Given the description of an element on the screen output the (x, y) to click on. 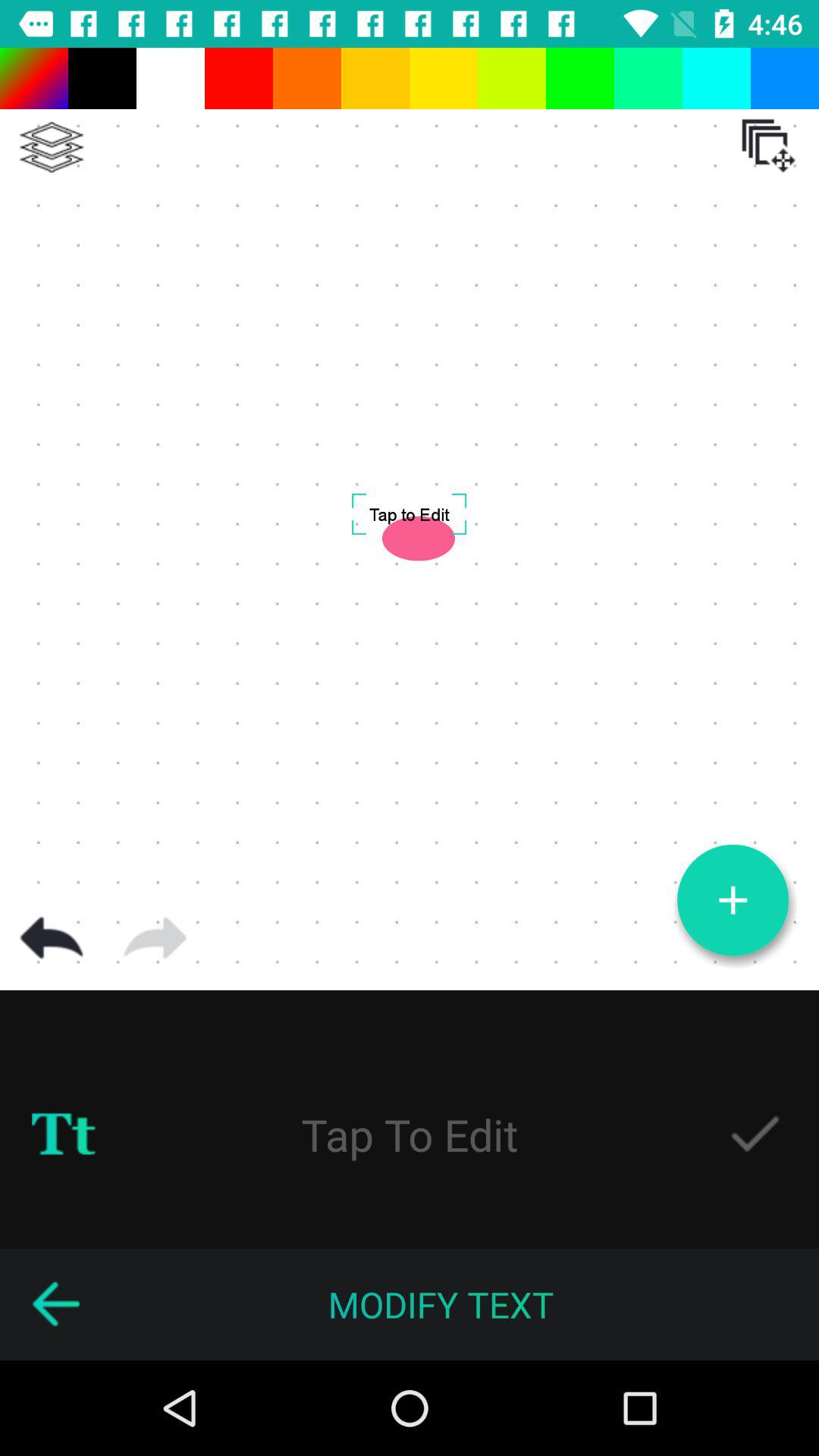
go back (55, 1304)
